Given the description of an element on the screen output the (x, y) to click on. 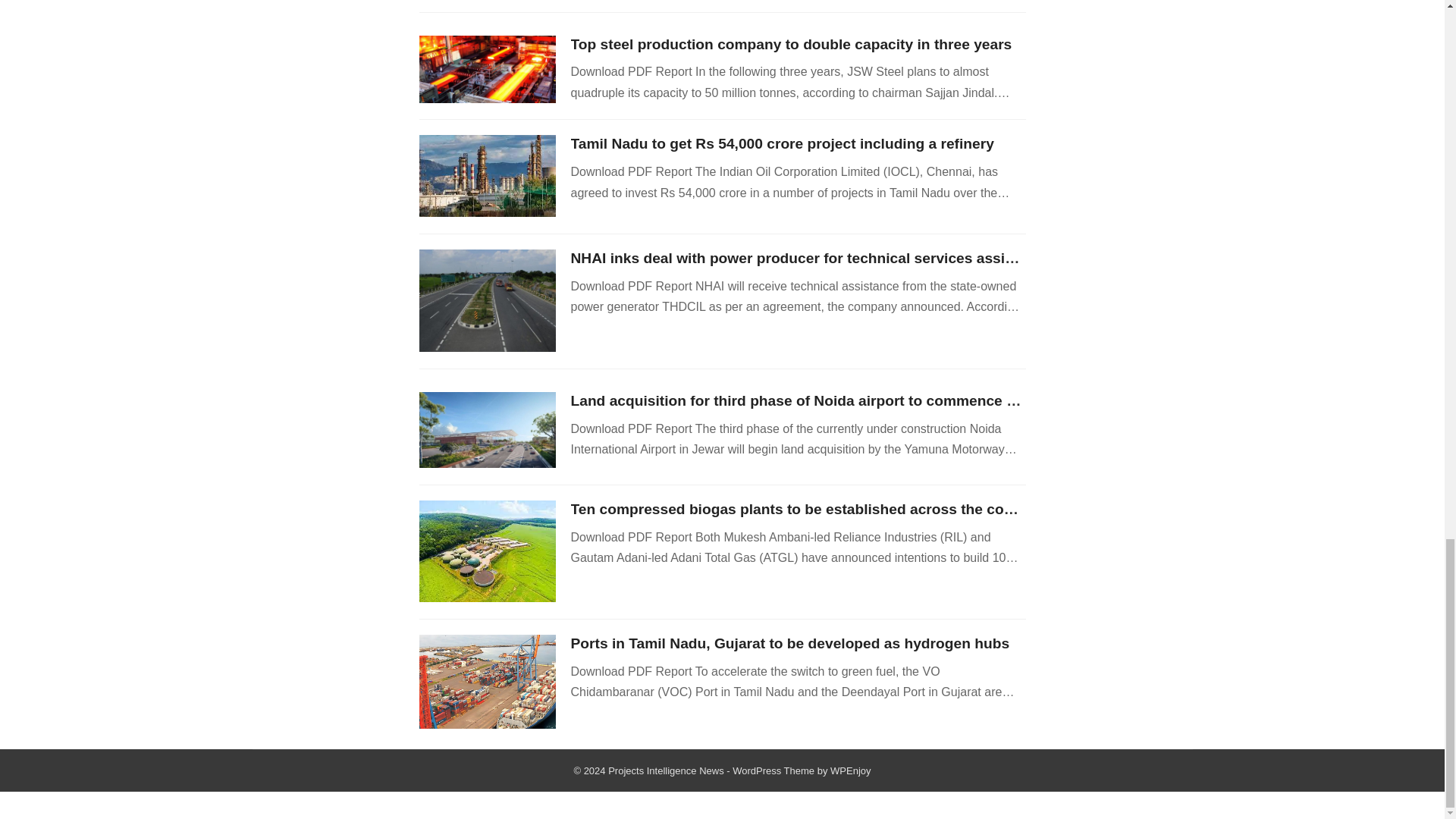
WPEnjoy (849, 770)
WordPress Theme (772, 770)
